Given the description of an element on the screen output the (x, y) to click on. 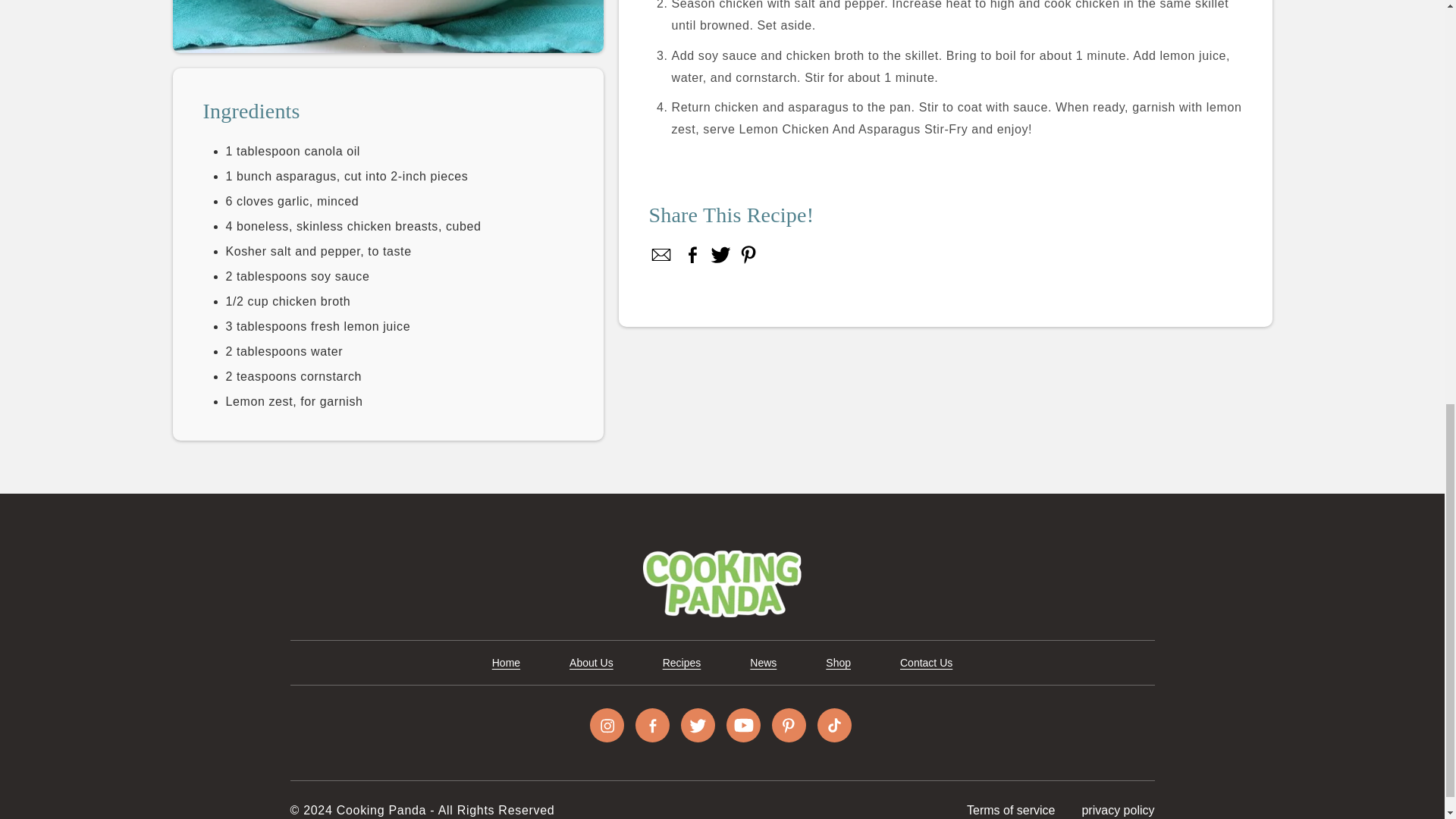
Shop (837, 662)
Twitter (697, 725)
Pinterest (748, 254)
Pin on Pinterest (748, 254)
Facebook (692, 254)
Share by Email (662, 254)
News (762, 662)
Tweet on Twitter (720, 254)
Twitter (720, 254)
Recipes (681, 662)
Instagram (606, 725)
Share on Facebook (662, 254)
Share on Facebook (692, 254)
Home (505, 662)
Facebook (651, 725)
